Given the description of an element on the screen output the (x, y) to click on. 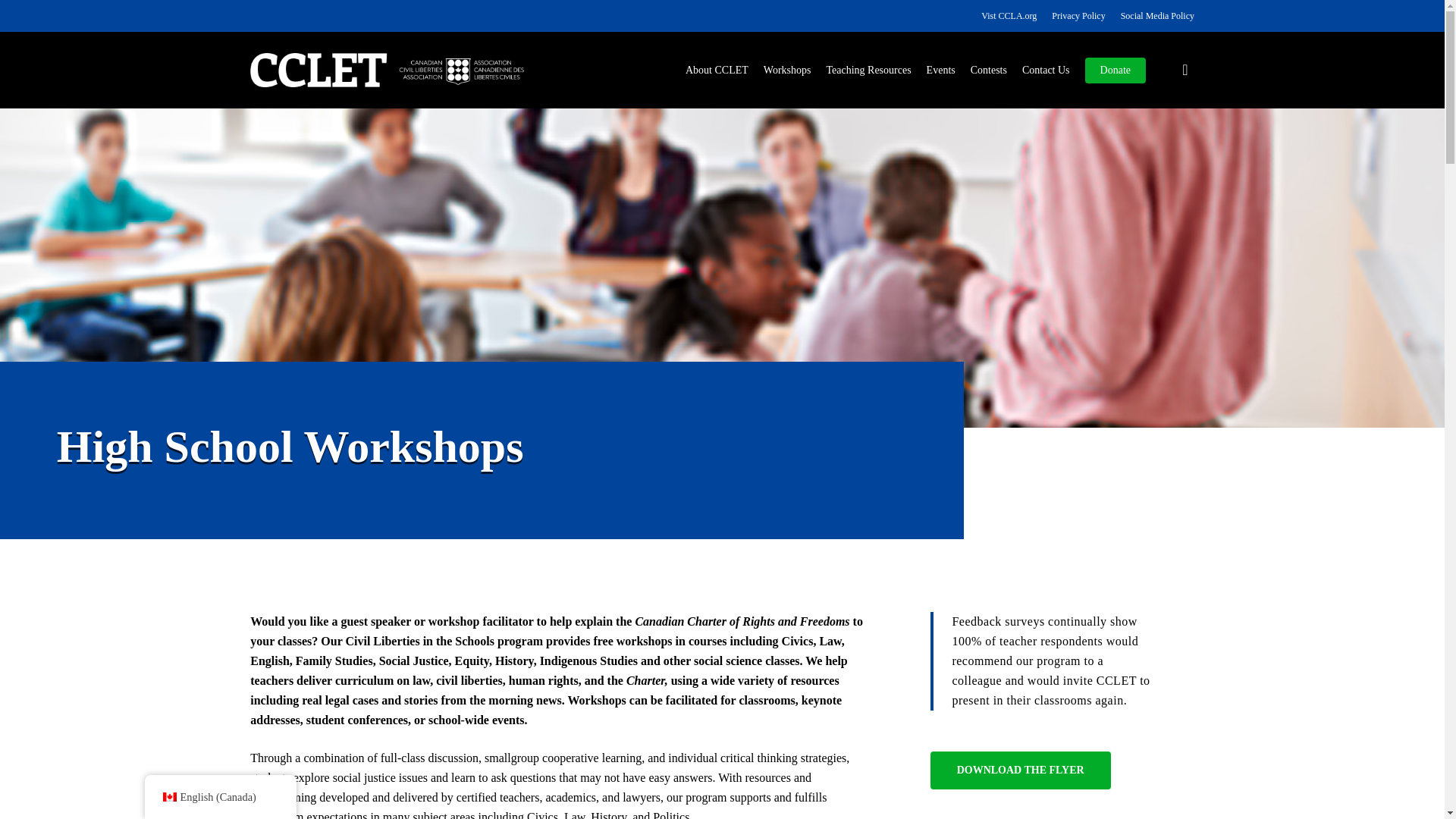
Workshops (786, 69)
Contact Us (1046, 69)
search (1184, 69)
About CCLET (716, 69)
DOWNLOAD THE FLYER (1020, 770)
Donate (1114, 69)
Contests (989, 69)
Privacy Policy (1078, 15)
Teaching Resources (868, 69)
Vist CCLA.org (1008, 15)
